Given the description of an element on the screen output the (x, y) to click on. 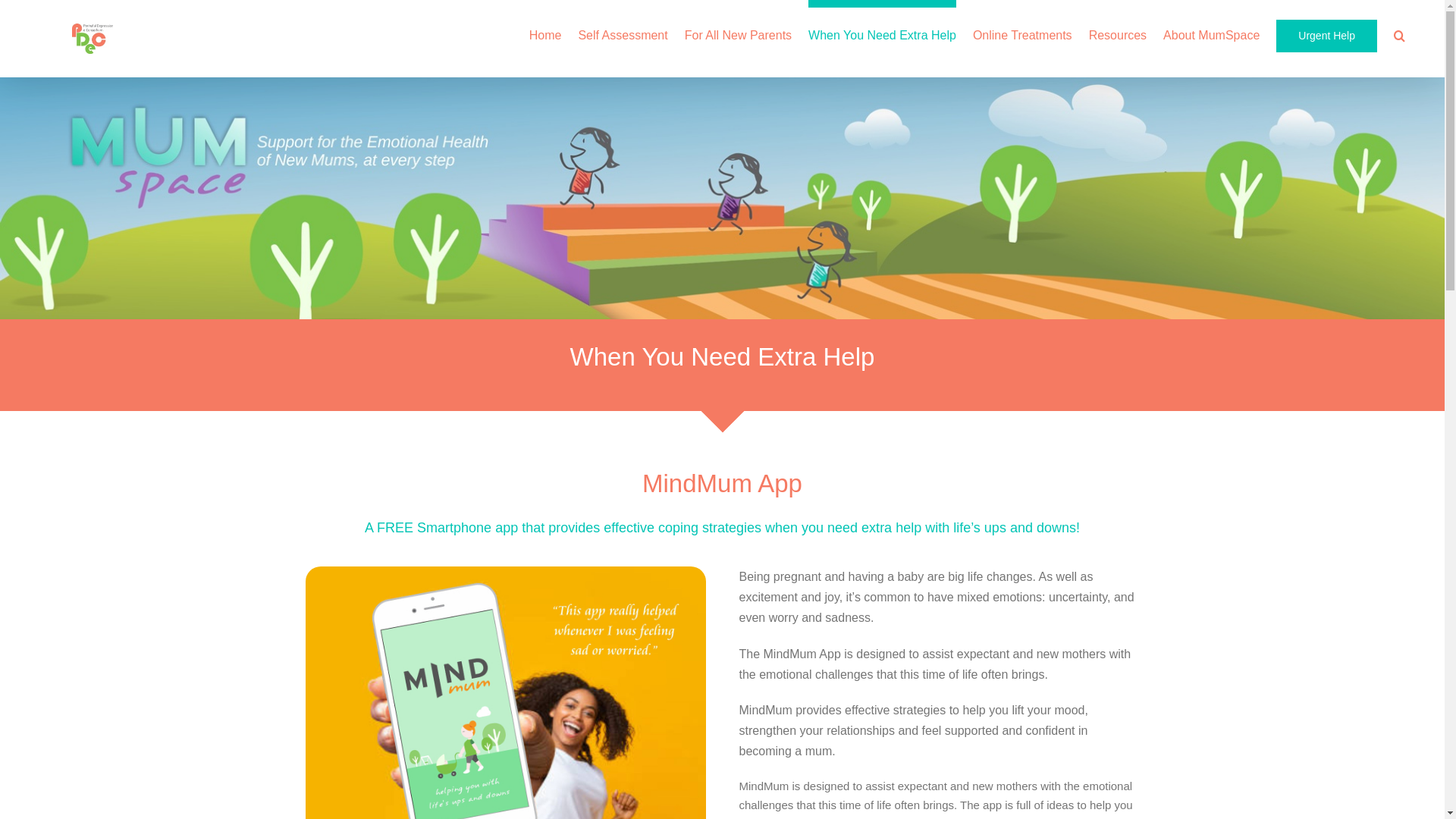
When You Need Extra Help Element type: text (882, 31)
Online Treatments Element type: text (1022, 31)
For All New Parents Element type: text (737, 31)
Urgent Help Element type: text (1326, 31)
Self Assessment Element type: text (622, 31)
Resources Element type: text (1117, 31)
MumSpace-Page-Header Element type: hover (722, 198)
Home Element type: text (545, 31)
About MumSpace Element type: text (1211, 31)
Search Element type: hover (1399, 31)
